Given the description of an element on the screen output the (x, y) to click on. 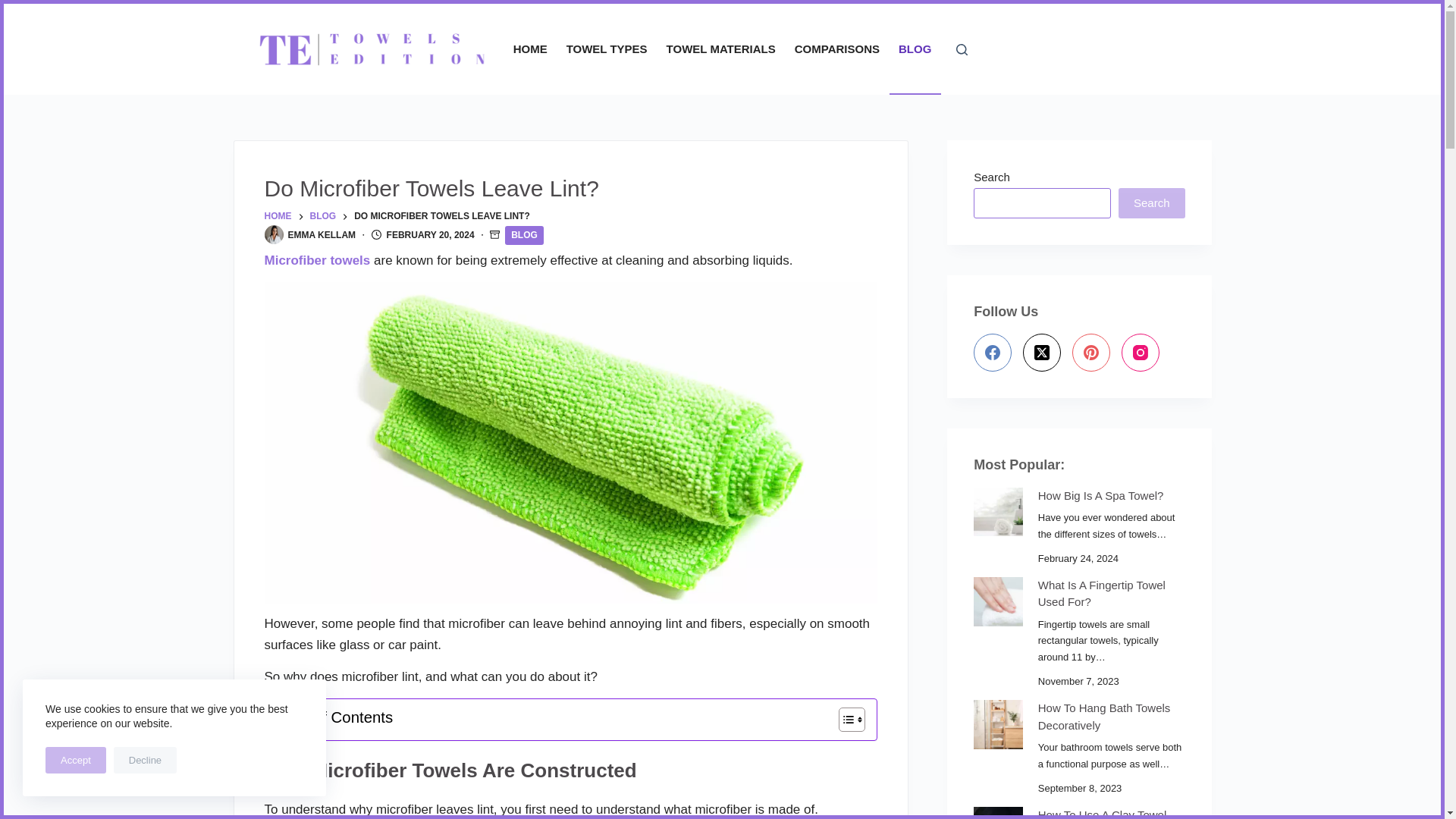
Do Microfiber Towels Leave Lint? (569, 188)
HOME (277, 216)
COMPARISONS (836, 49)
Posts by Emma Kellam (322, 235)
TOWEL MATERIALS (720, 49)
Skip to content (15, 7)
Microfiber towels (316, 260)
BLOG (322, 216)
TOWEL TYPES (606, 49)
BLOG (524, 235)
Accept (75, 759)
Decline (144, 759)
EMMA KELLAM (322, 235)
